Given the description of an element on the screen output the (x, y) to click on. 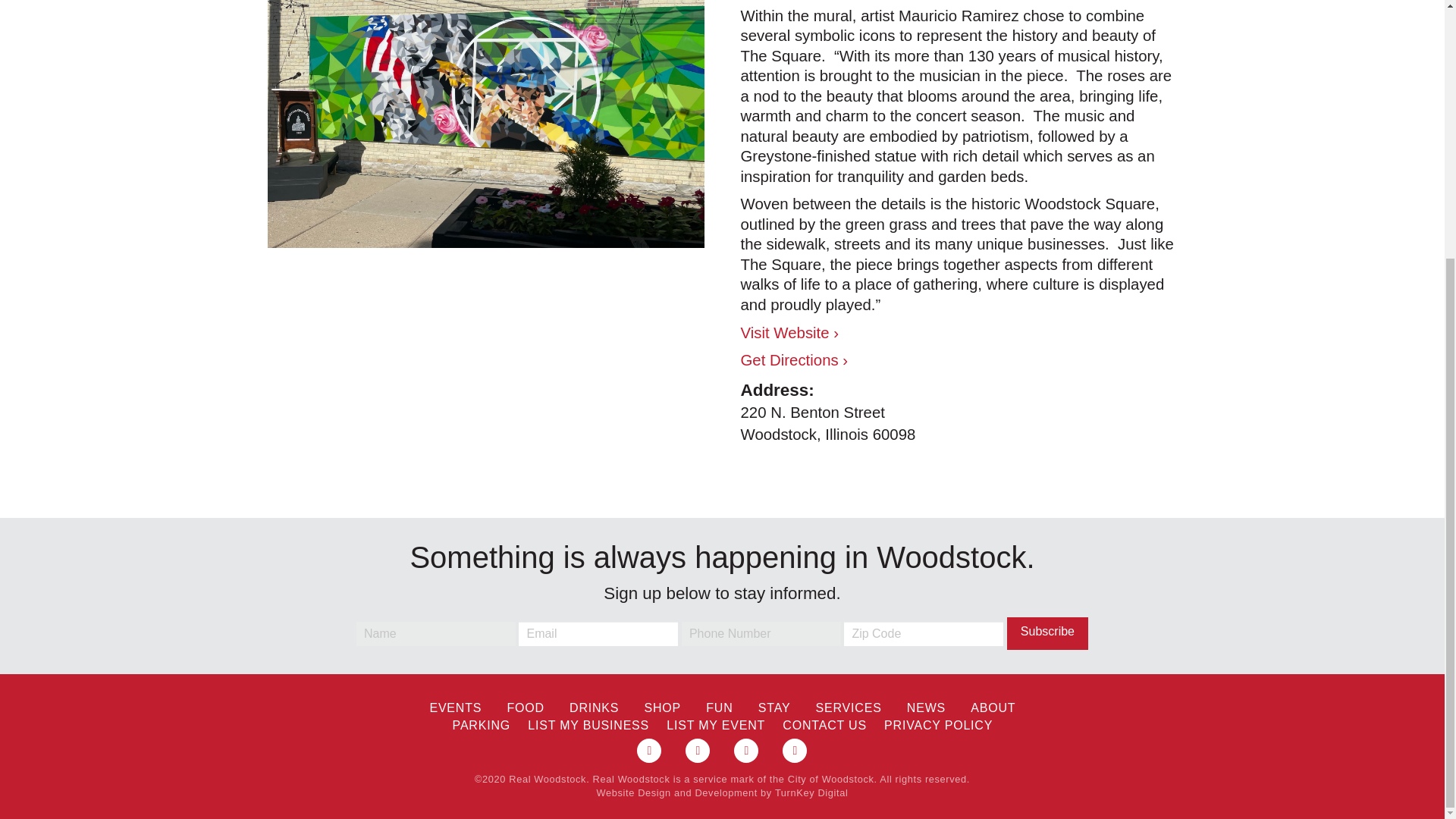
CONTACT US (824, 725)
PRIVACY POLICY (938, 725)
EVENTS (454, 708)
ABOUT (992, 708)
SHOP (662, 708)
LIST MY EVENT (715, 725)
FOOD (524, 708)
FUN (719, 708)
NEWS (925, 708)
SERVICES (848, 708)
